Given the description of an element on the screen output the (x, y) to click on. 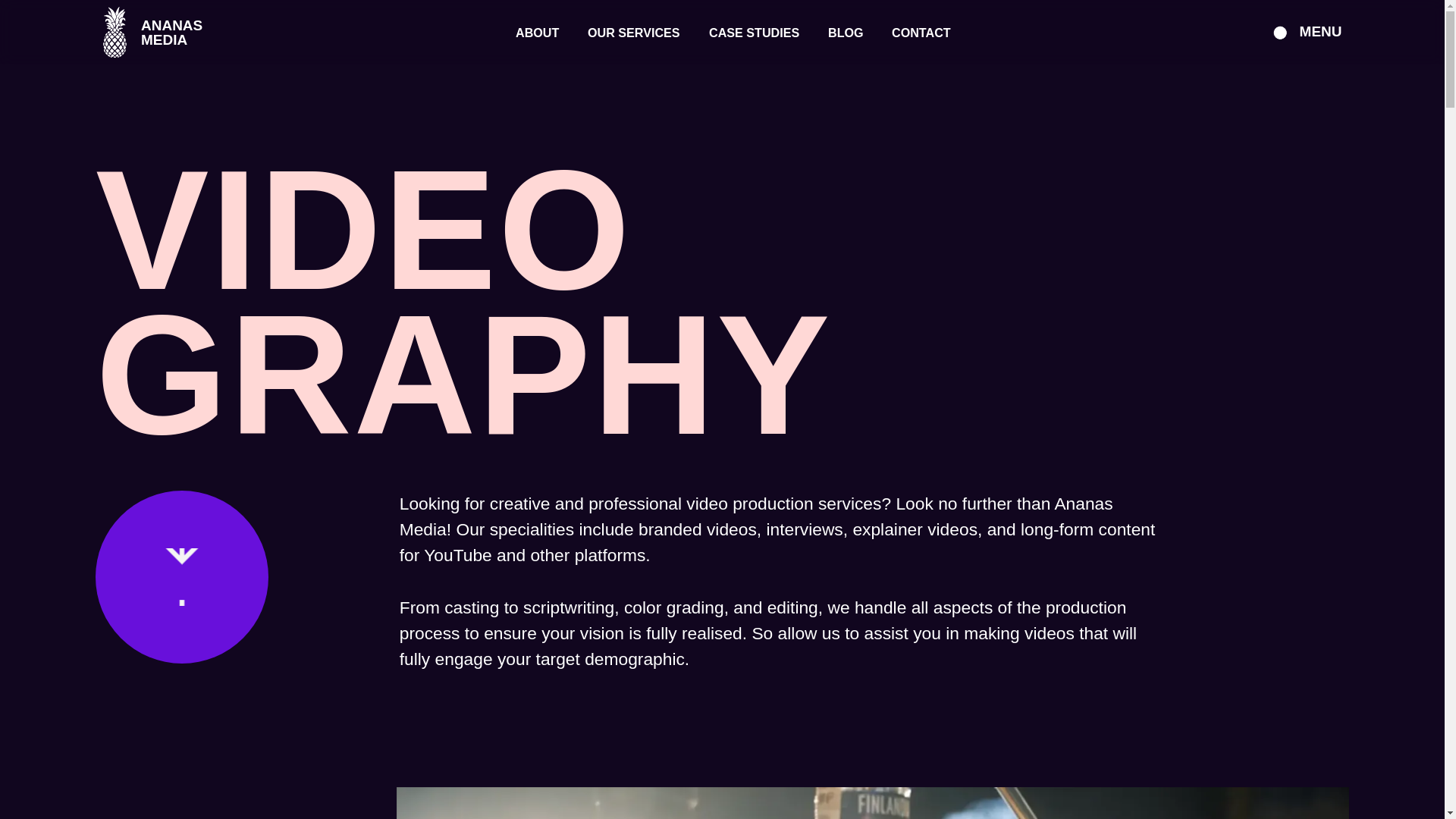
OUR SERVICES (633, 32)
BLOG (1303, 32)
ANANAS MEDIA (845, 32)
ABOUT (160, 32)
CASE STUDIES (536, 32)
CONTACT (753, 32)
